Given the description of an element on the screen output the (x, y) to click on. 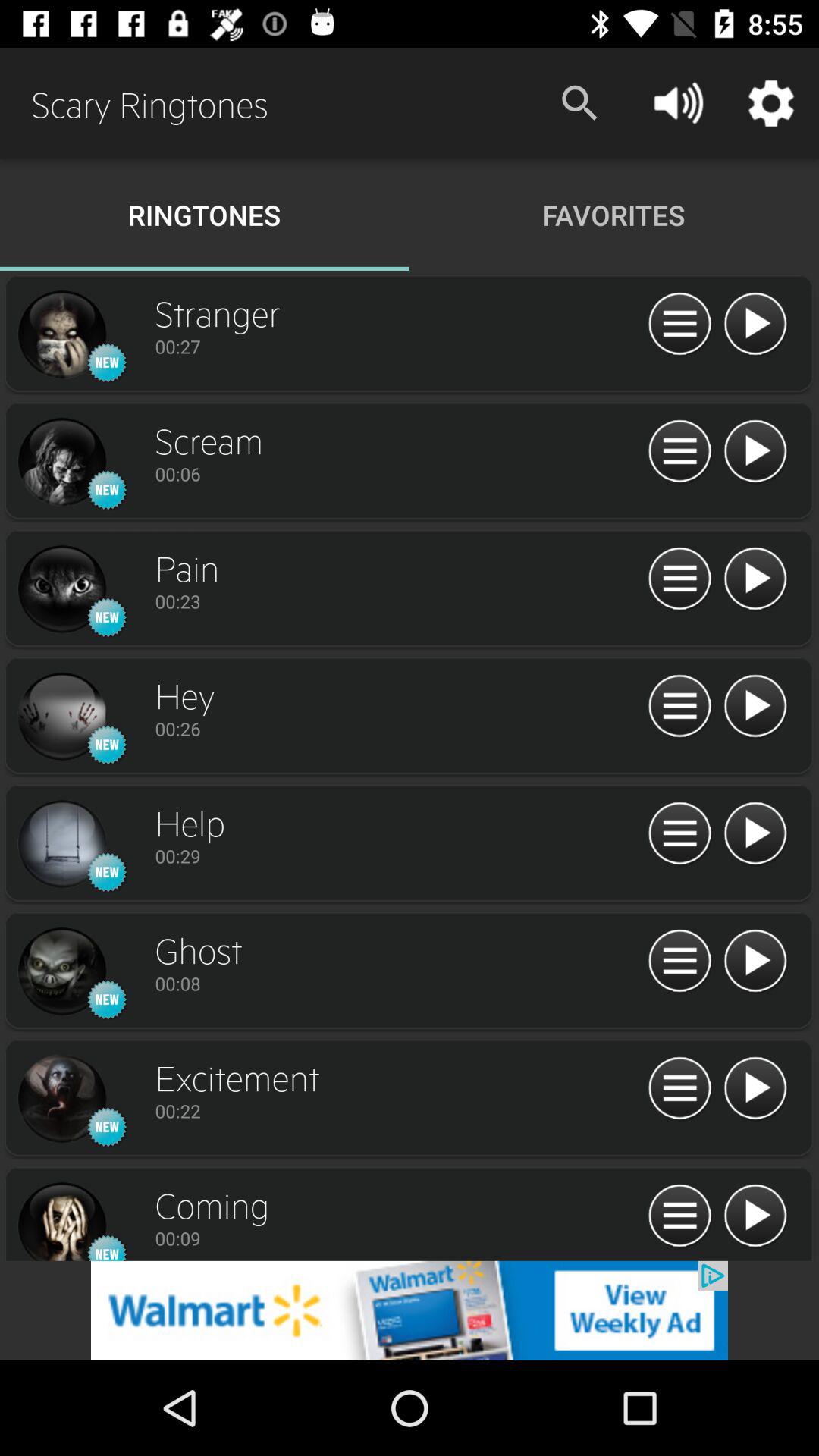
play song (755, 324)
